Given the description of an element on the screen output the (x, y) to click on. 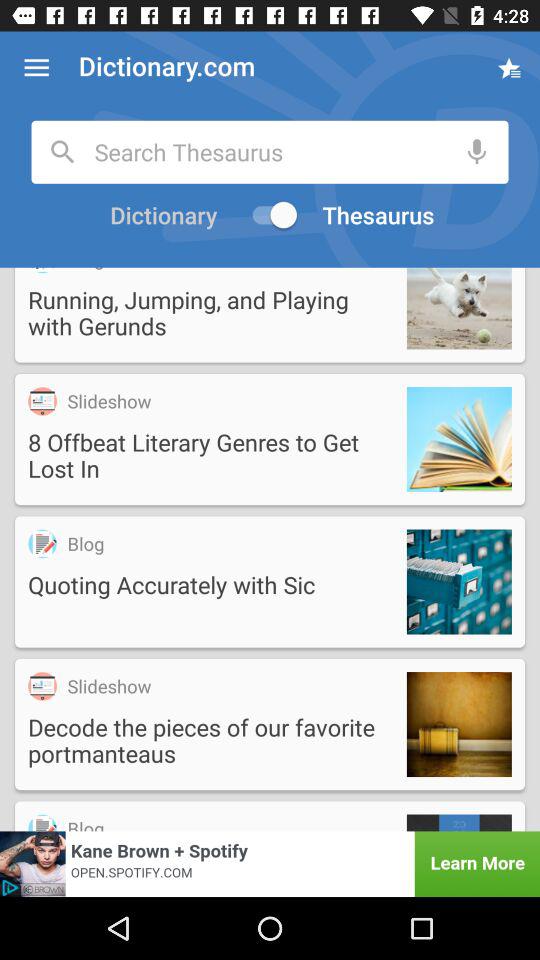
select the symbol which is to the left of slideshow in the fourth row from the top (42, 686)
click on thesaurus (379, 215)
click on the dictionary option (160, 215)
